Given the description of an element on the screen output the (x, y) to click on. 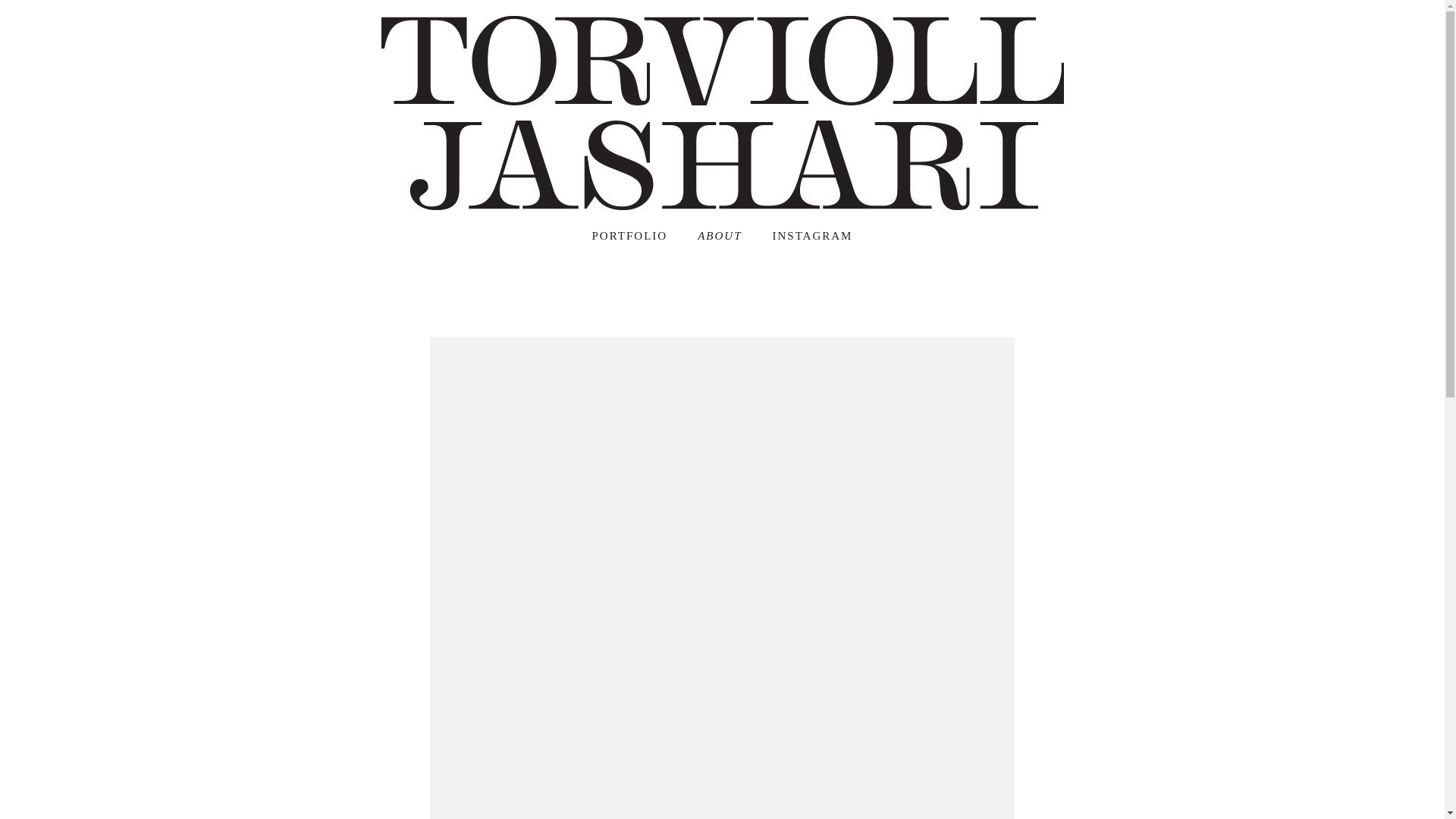
INSTAGRAM (811, 235)
PORTFOLIO (630, 235)
ABOUT (719, 235)
